Given the description of an element on the screen output the (x, y) to click on. 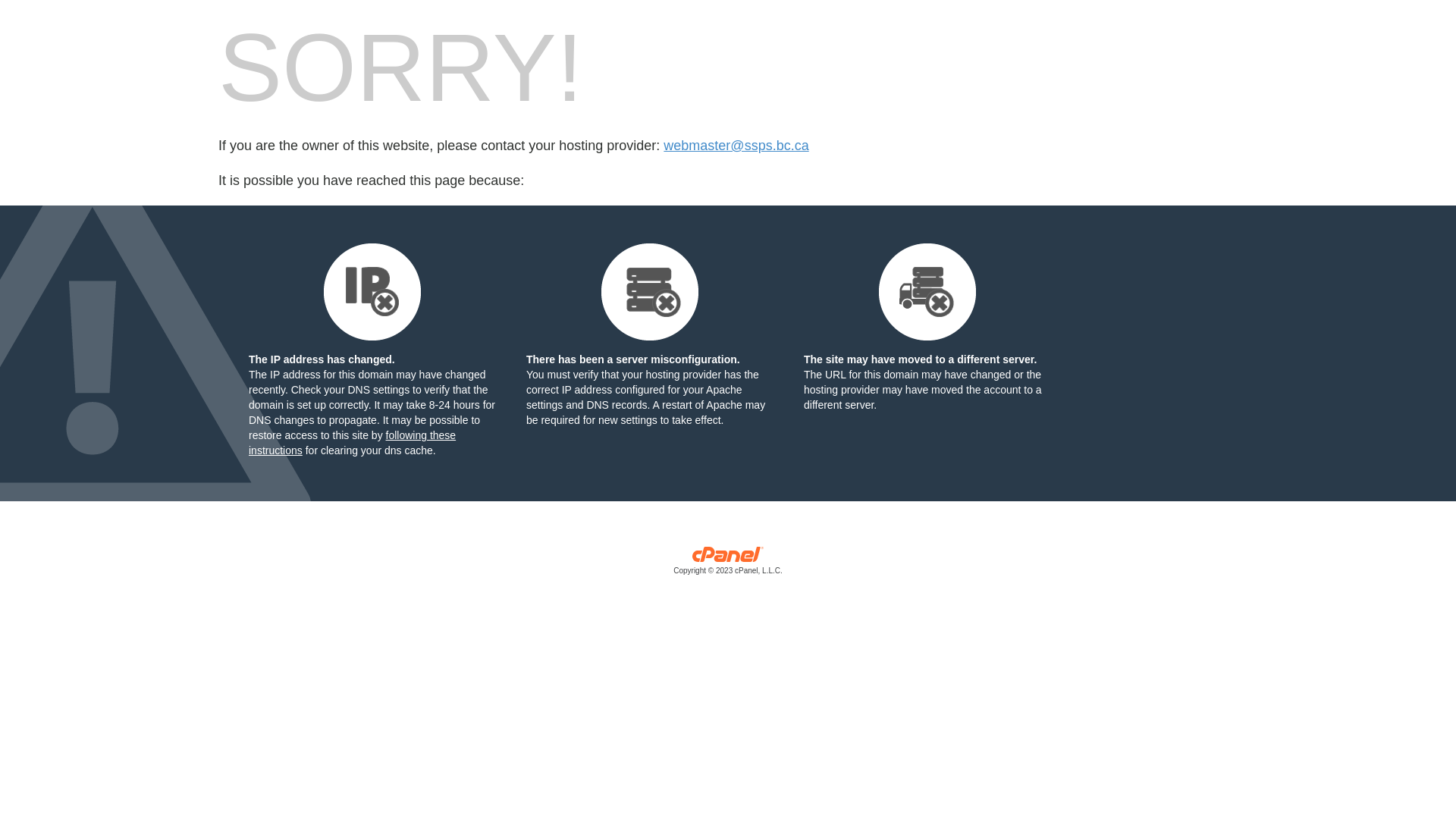
webmaster@ssps.bc.ca Element type: text (735, 145)
following these instructions Element type: text (351, 442)
